Given the description of an element on the screen output the (x, y) to click on. 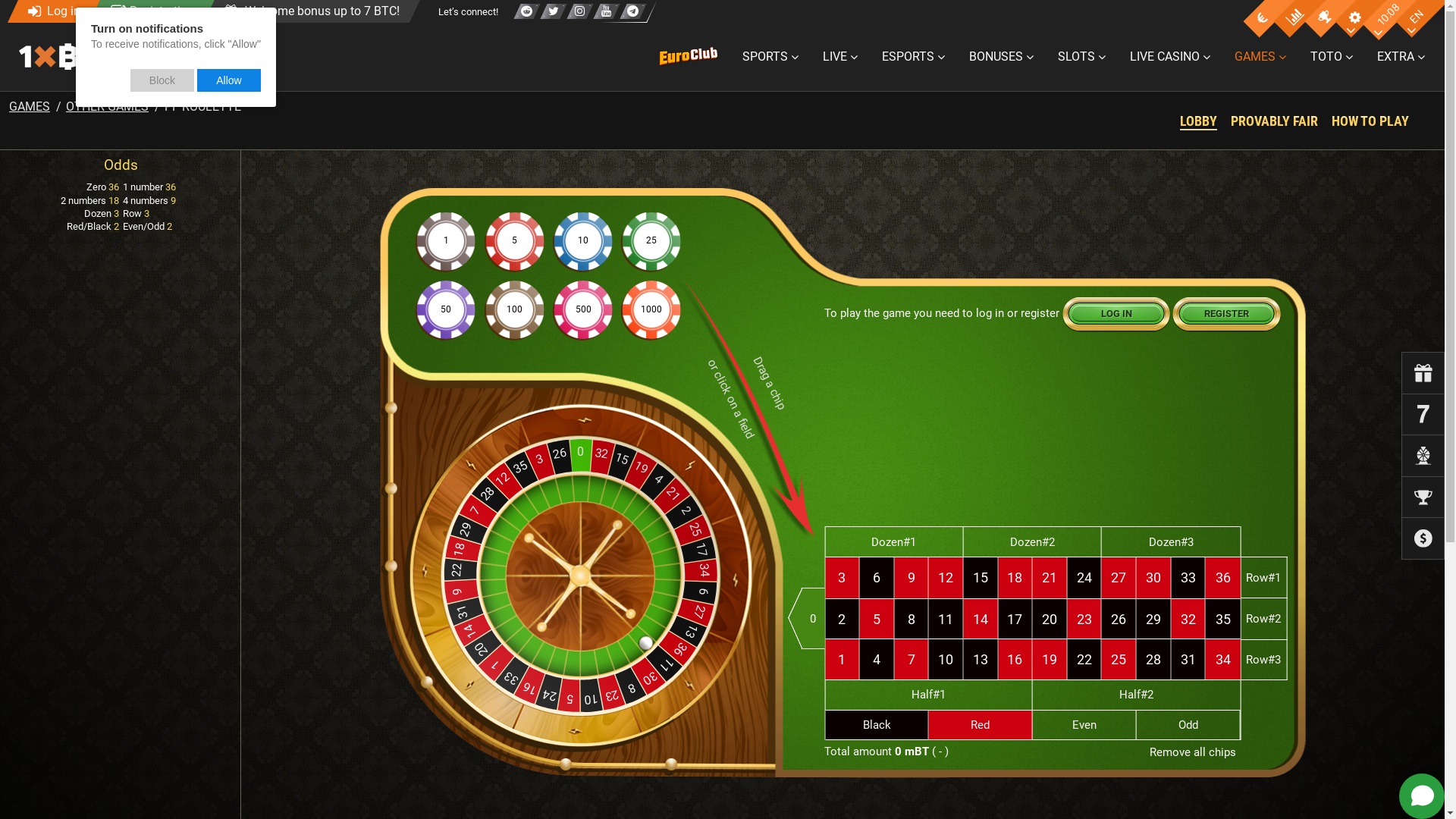
Registration Element type: text (146, 11)
Welcome bonus up to 7 BTC! Element type: text (306, 11)
EXTRA Element type: text (1401, 56)
GAMES Element type: text (1260, 56)
ESPORTS Element type: text (913, 56)
BONUSES Element type: text (1001, 56)
TOTO Element type: text (1331, 56)
EuroClub Element type: hover (692, 56)
Allow Element type: text (228, 80)
SLOTS Element type: text (1081, 56)
LIVE Element type: text (839, 56)
SPORTS Element type: text (770, 56)
Bitcoin Betting and Casino Company 1xBit.com Element type: hover (97, 55)
Block Element type: text (162, 80)
LIVE CASINO Element type: text (1169, 56)
